Given the description of an element on the screen output the (x, y) to click on. 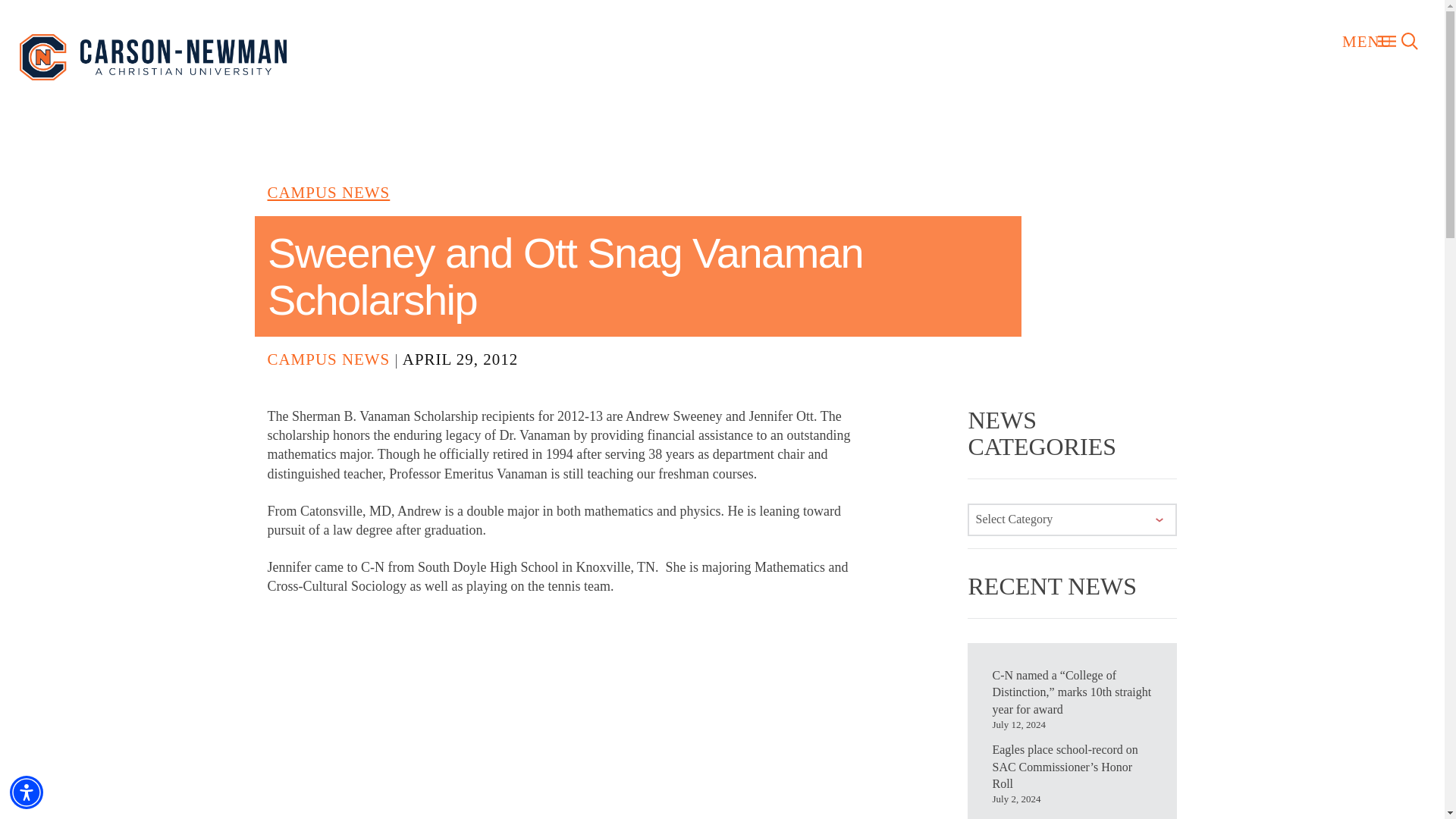
Accessibility Menu (26, 792)
